Given the description of an element on the screen output the (x, y) to click on. 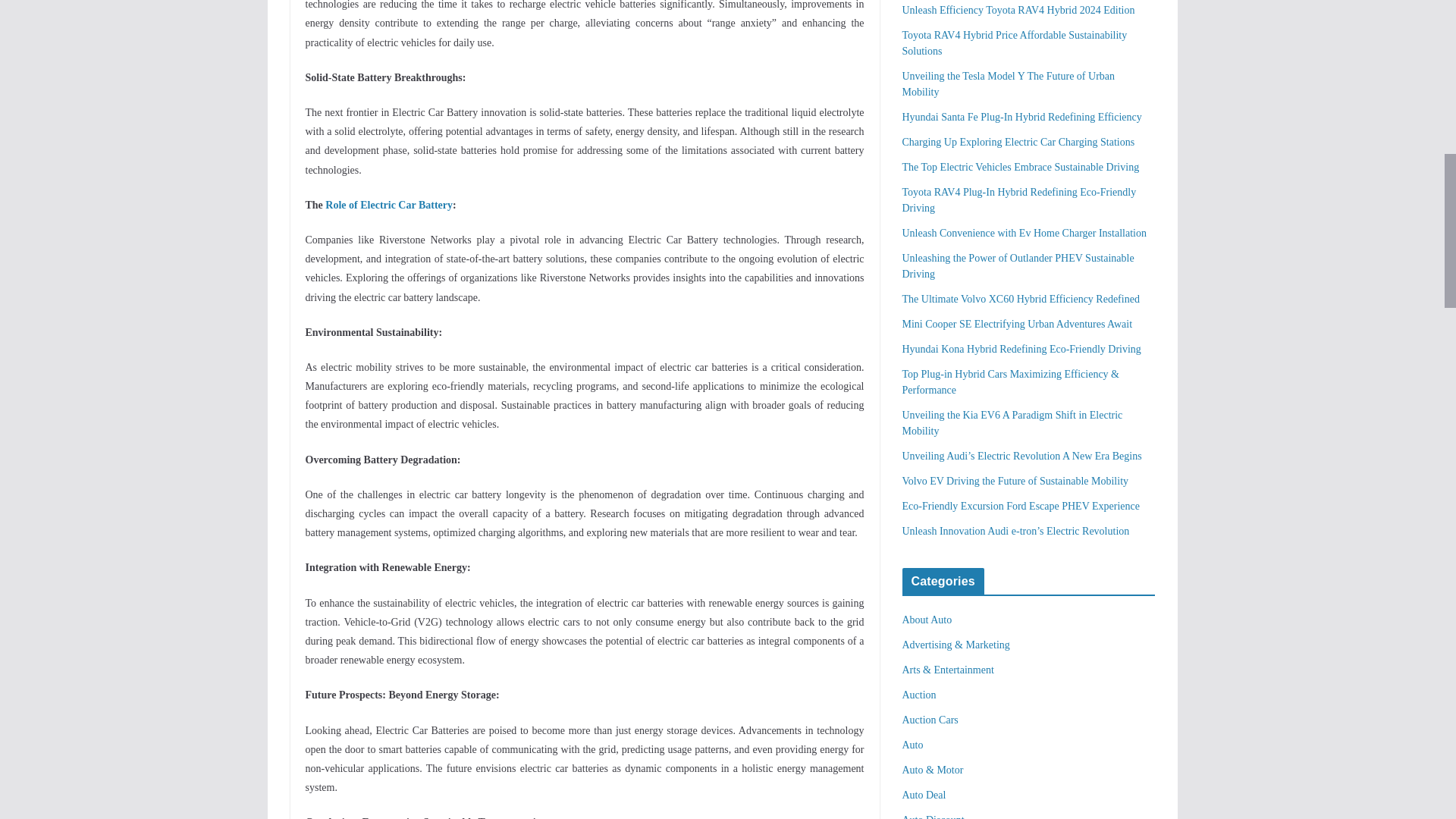
Role of Electric Car Battery (388, 204)
